Given the description of an element on the screen output the (x, y) to click on. 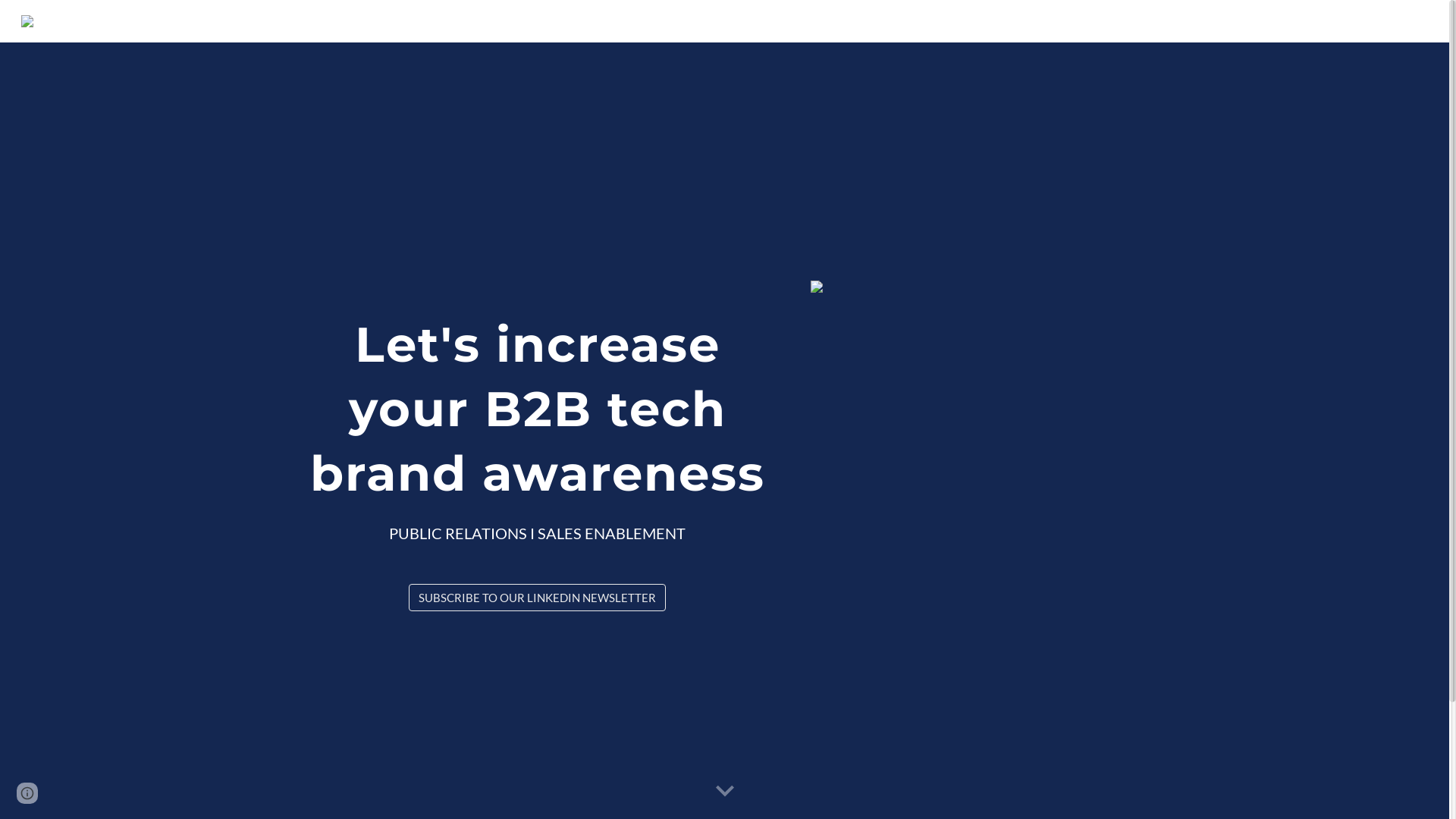
SUBSCRIBE TO OUR LINKEDIN NEWSLETTER Element type: text (537, 597)
